Given the description of an element on the screen output the (x, y) to click on. 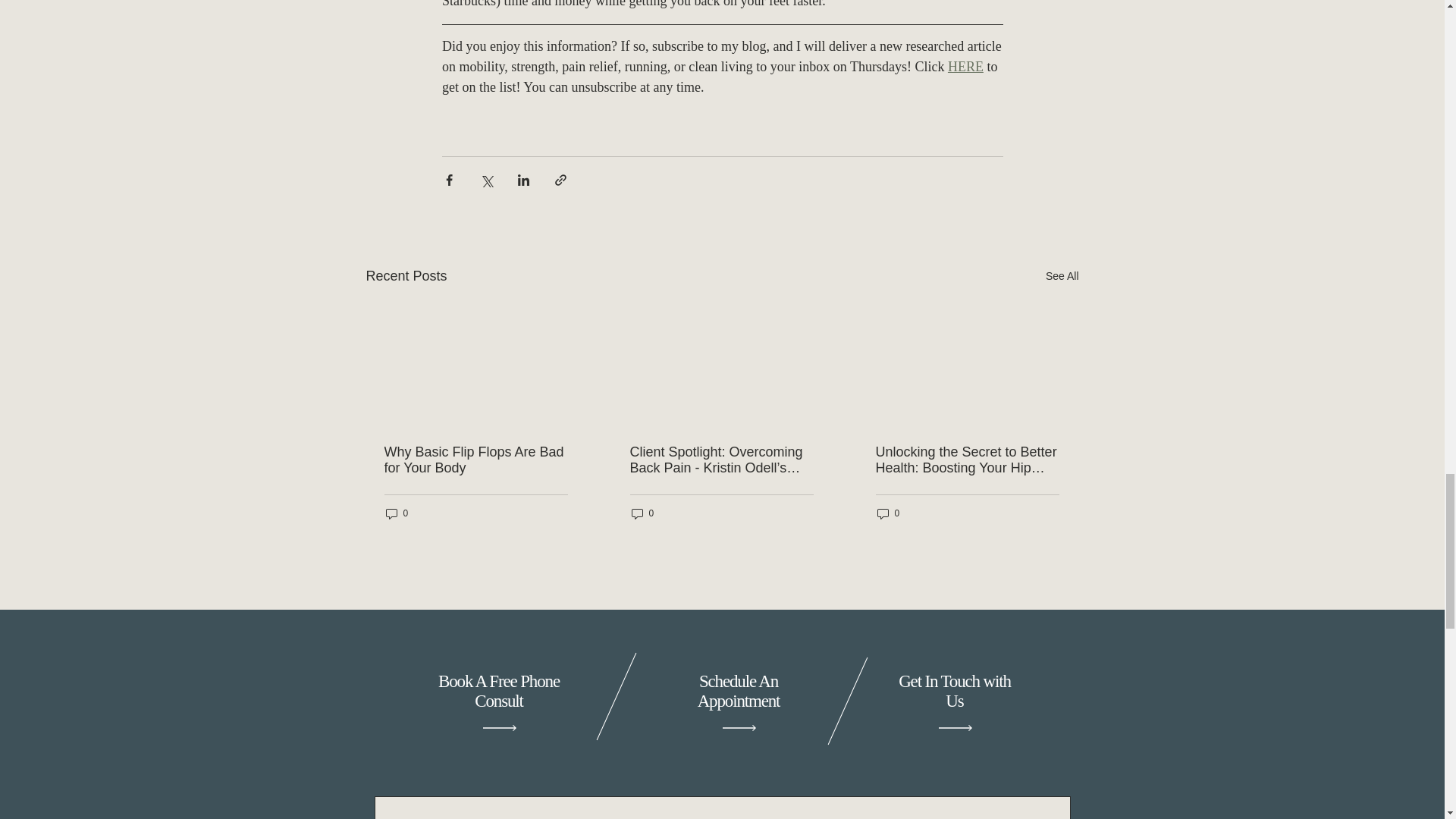
0 (888, 513)
Get In Touch with Us (954, 690)
0 (641, 513)
HERE (964, 66)
Book A Free Phone Consult (498, 690)
Schedule An Appointment (738, 690)
See All (1061, 276)
0 (396, 513)
Why Basic Flip Flops Are Bad for Your Body (475, 459)
